Given the description of an element on the screen output the (x, y) to click on. 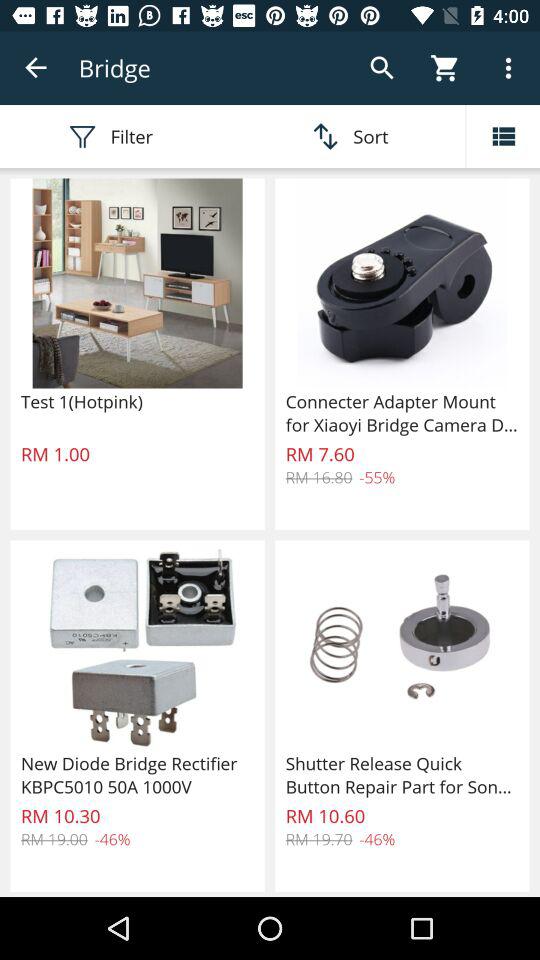
return to the previous page (36, 68)
